Given the description of an element on the screen output the (x, y) to click on. 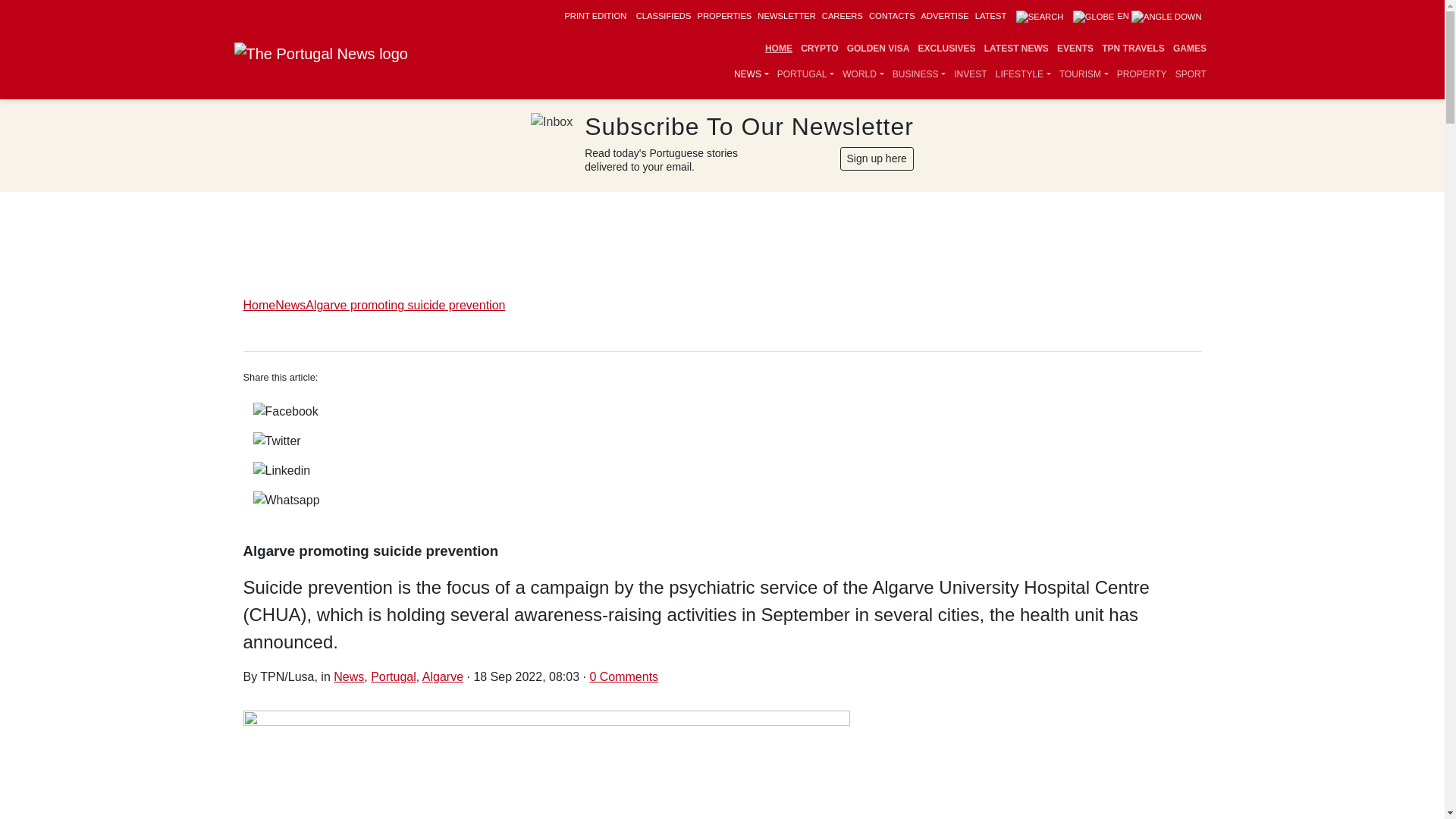
PRINT EDITION (595, 15)
CAREERS (842, 15)
GAMES (1189, 48)
PORTUGAL (805, 73)
CLASSIFIEDS (663, 15)
TPN TRAVELS (1133, 48)
LATEST NEWS (1015, 48)
CONTACTS (892, 15)
HOME (778, 48)
GOLDEN VISA (878, 48)
EVENTS (1074, 48)
PROPERTIES (724, 15)
LATEST (990, 15)
NEWS (751, 73)
EN (1137, 15)
